Given the description of an element on the screen output the (x, y) to click on. 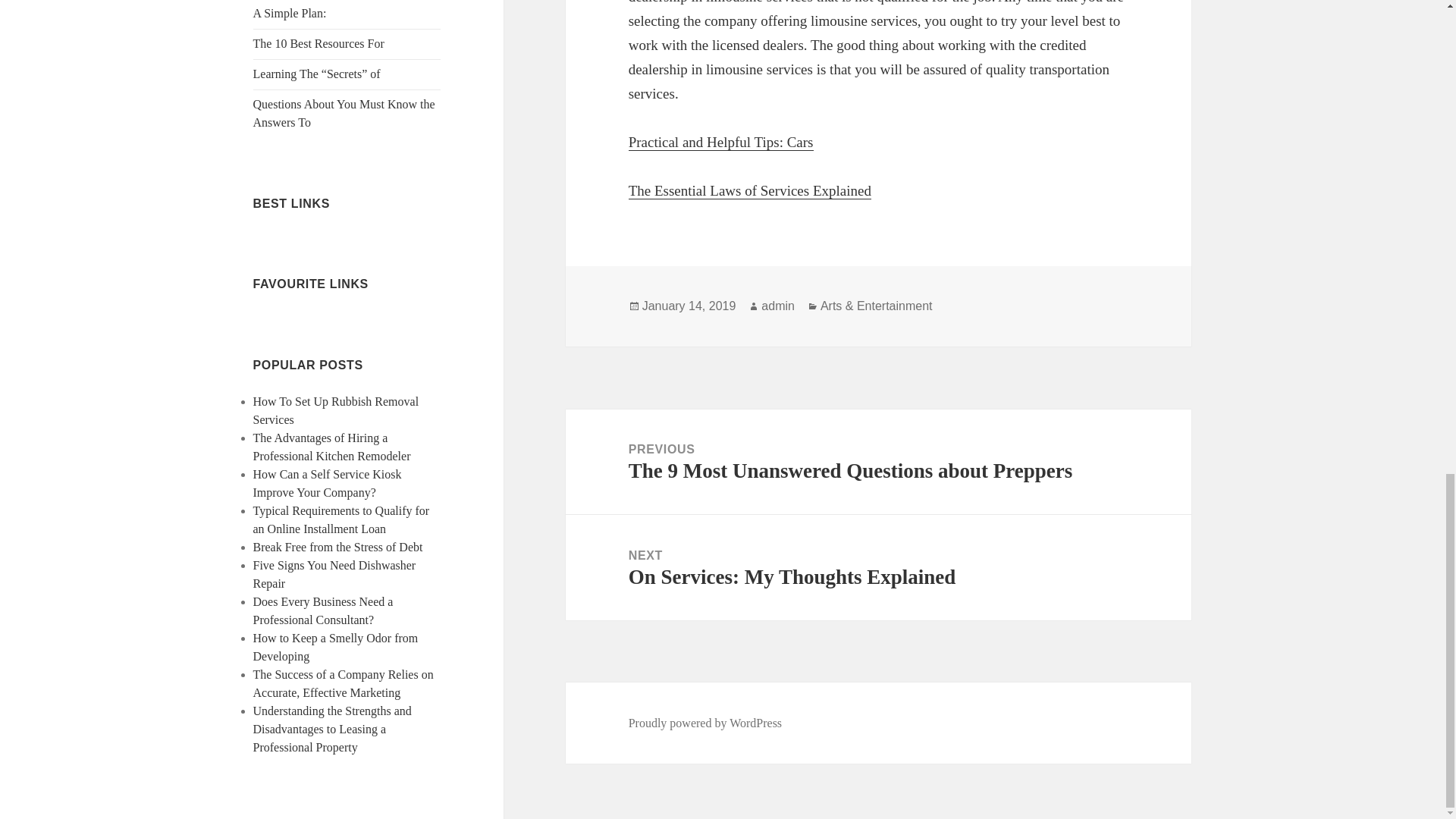
The 10 Best Resources For (318, 42)
How To Set Up Rubbish Removal Services (336, 409)
How Can a Self Service Kiosk Improve Your Company? (327, 482)
Five Signs You Need Dishwasher Repair (334, 573)
How Can a Self Service Kiosk Improve Your Company? (327, 482)
The Advantages of Hiring a Professional Kitchen Remodeler (331, 446)
Break Free from the Stress of Debt (338, 546)
How to Keep a Smelly Odor from Developing (336, 646)
Does Every Business Need a Professional Consultant? (323, 610)
Five Signs You Need Dishwasher Repair (334, 573)
Does Every Business Need a Professional Consultant? (323, 610)
Break Free from the Stress of Debt (338, 546)
